Given the description of an element on the screen output the (x, y) to click on. 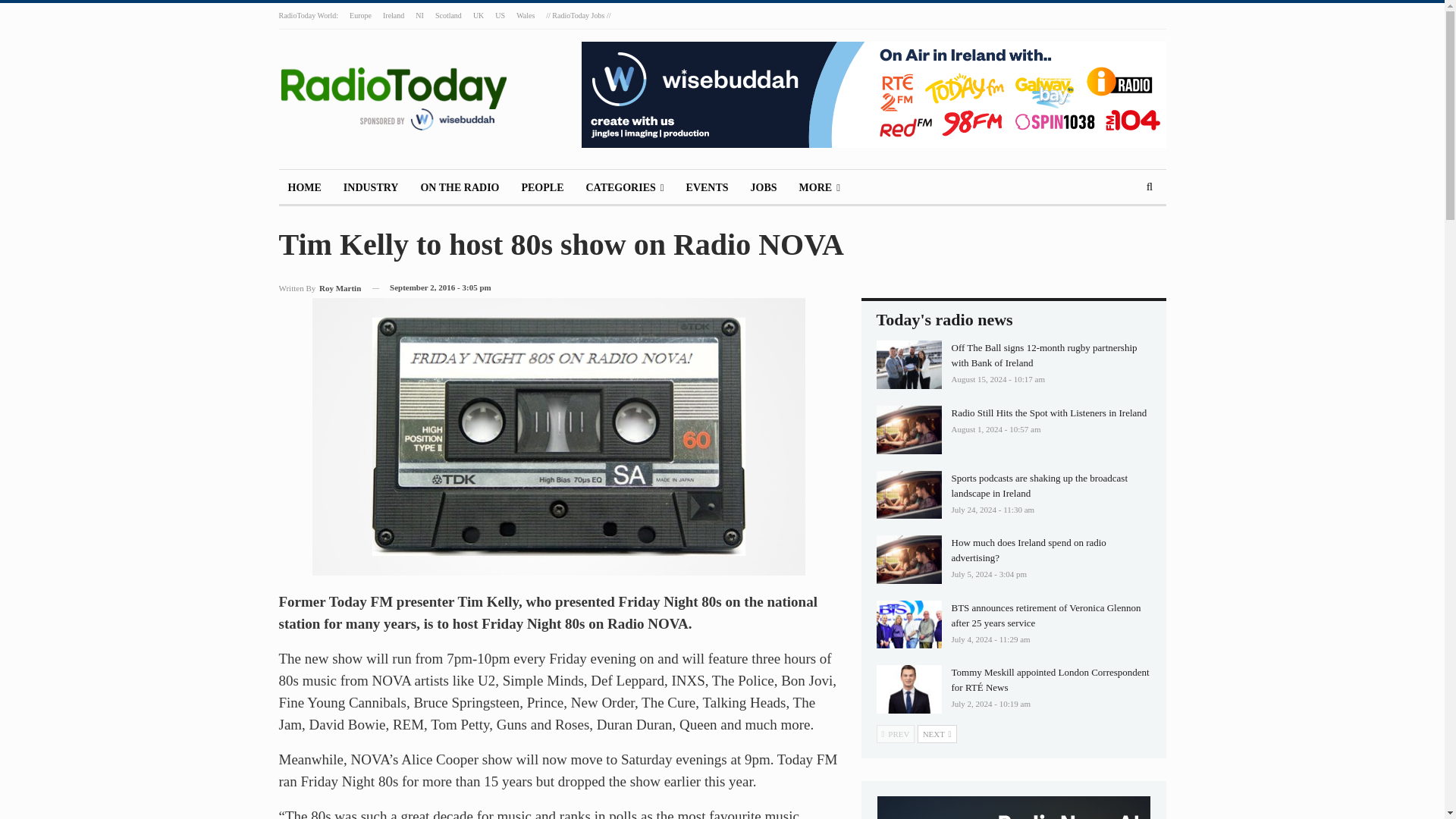
INDUSTRY (370, 187)
UK (478, 15)
Browse Author Articles (320, 287)
JOBS (763, 187)
Europe (360, 15)
PEOPLE (542, 187)
EVENTS (707, 187)
CATEGORIES (624, 187)
NI (418, 15)
MORE (819, 187)
